Given the description of an element on the screen output the (x, y) to click on. 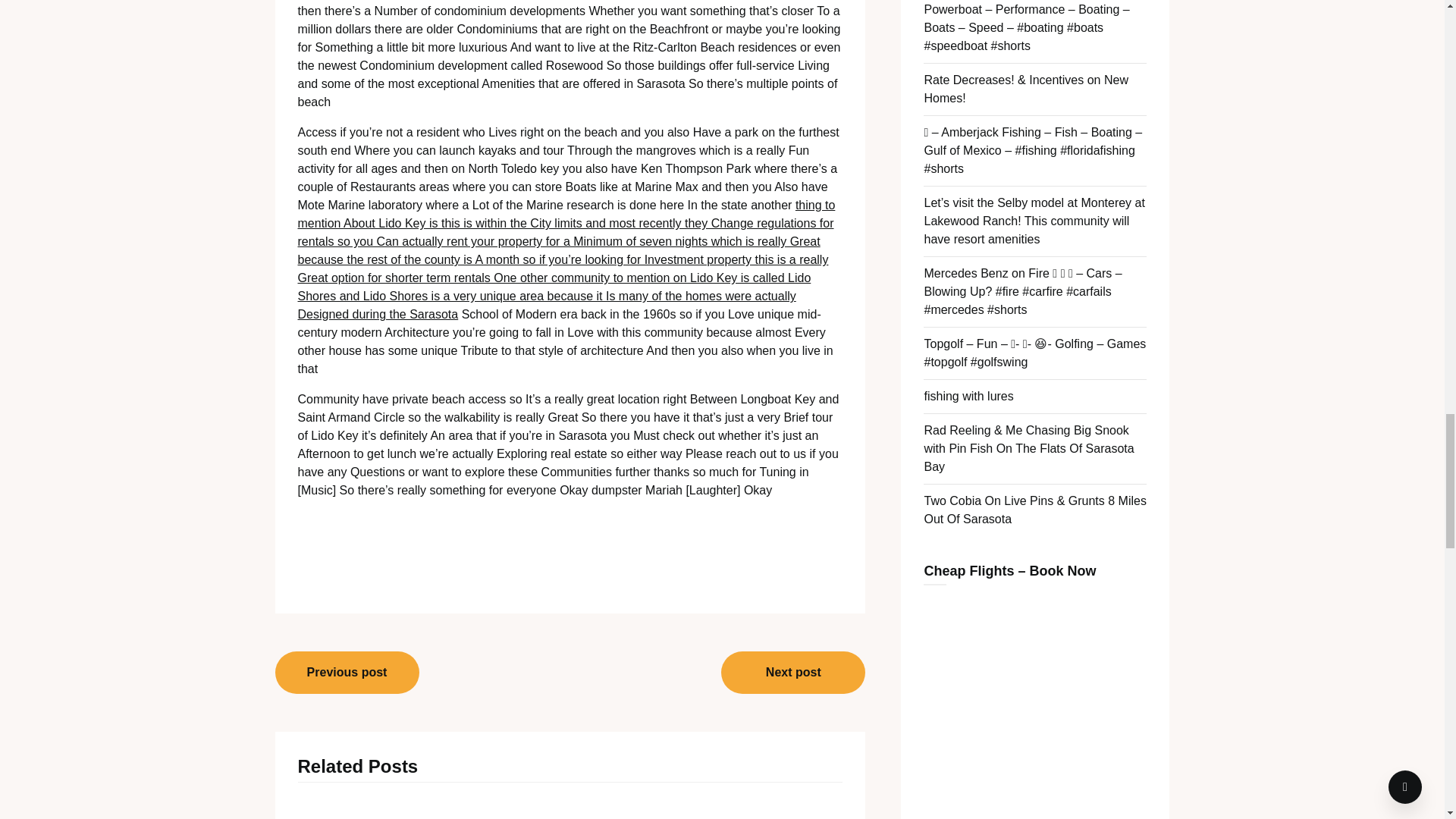
Next post (792, 672)
SRQ Videos (379, 808)
SRQ Videos (569, 808)
Previous post (347, 672)
